Given the description of an element on the screen output the (x, y) to click on. 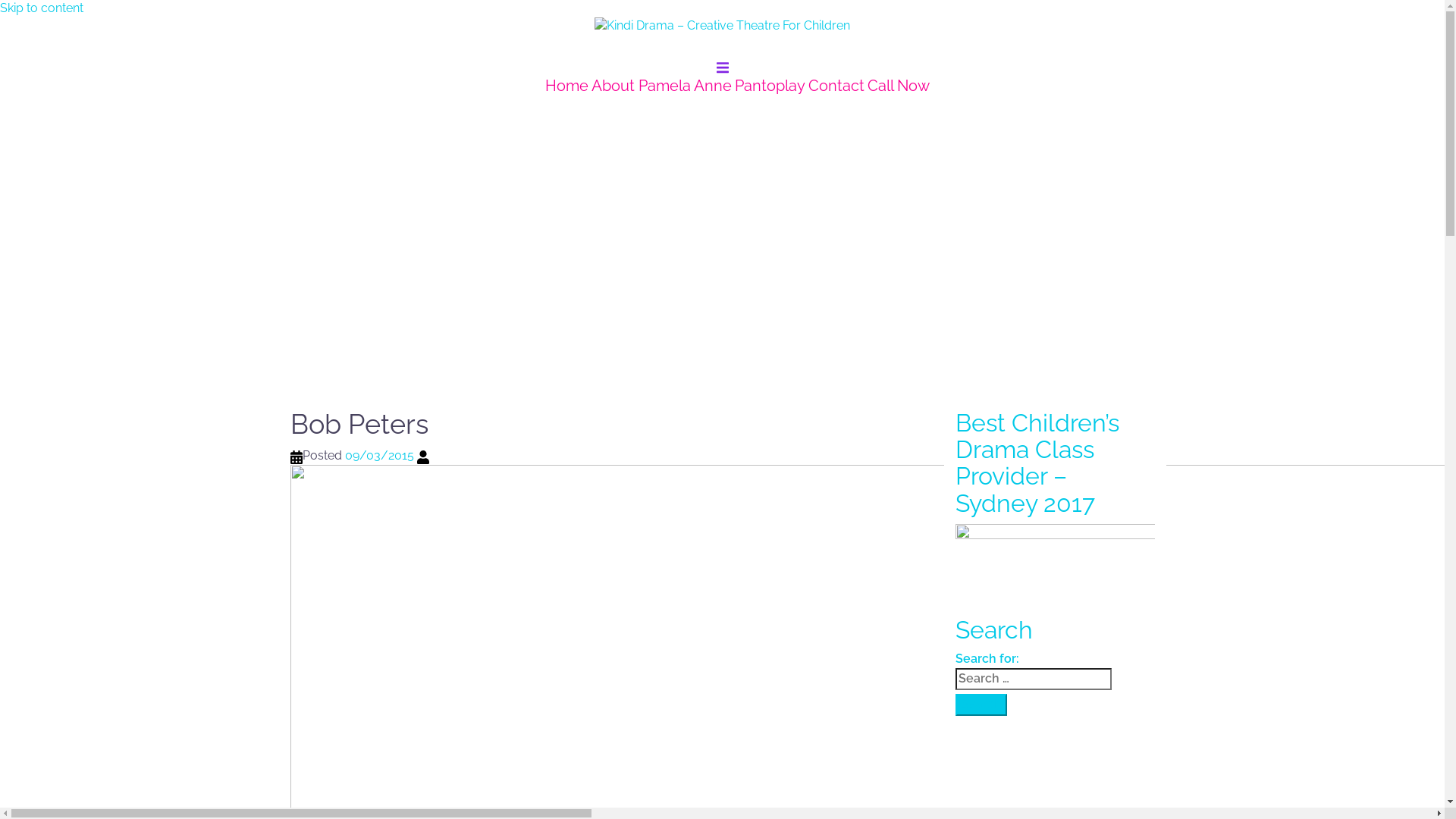
Call Now Element type: text (898, 85)
Pantoplay Element type: text (769, 85)
Contact Element type: text (836, 85)
About Pamela Anne Element type: text (661, 85)
Search Element type: text (981, 704)
09/03/2015 Element type: text (378, 455)
Home Element type: text (566, 85)
Skip to content Element type: text (41, 7)
